Given the description of an element on the screen output the (x, y) to click on. 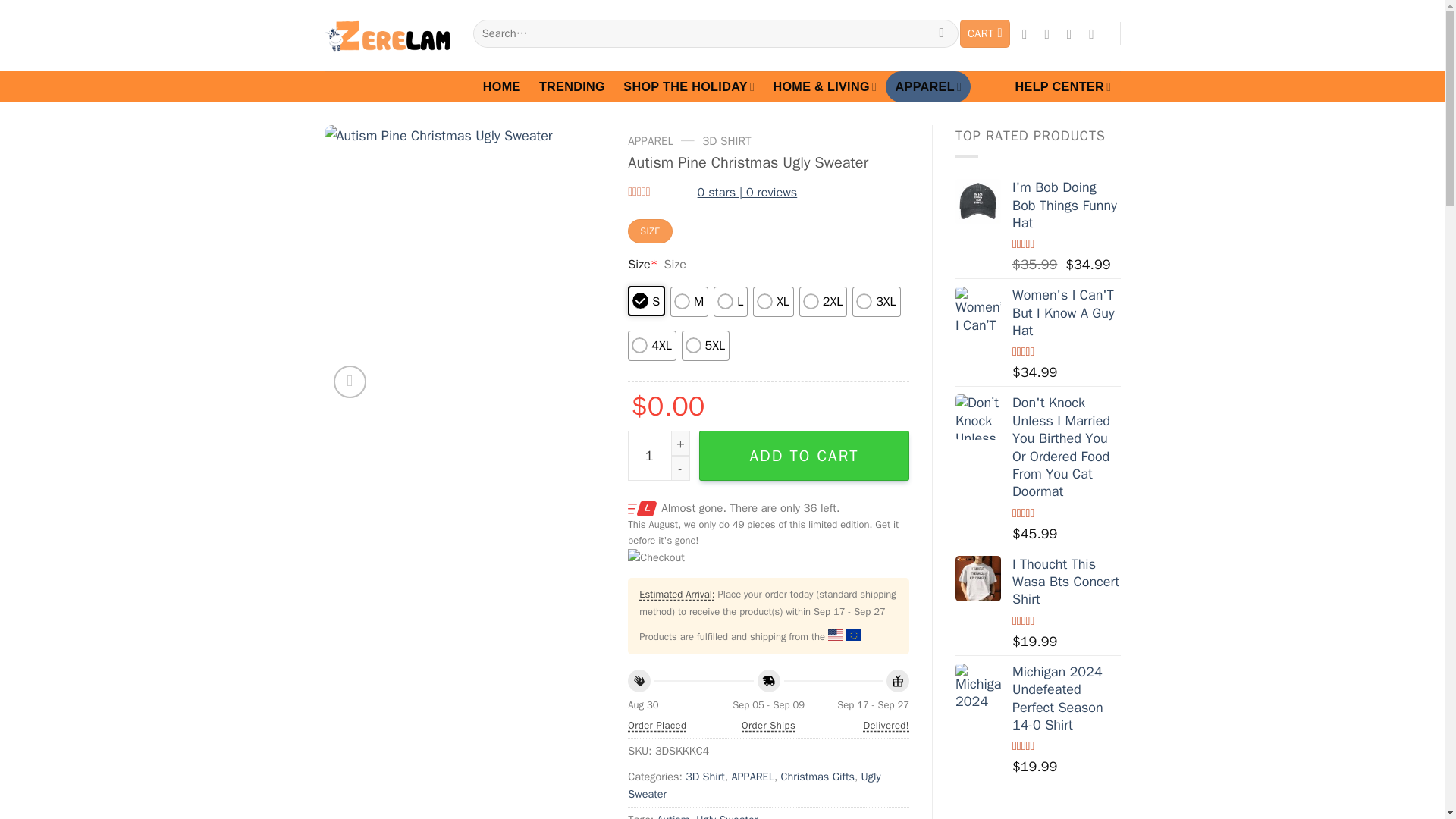
TRENDING (571, 86)
Michigan 2024 Undefeated Perfect Season 14-0 Shirt (978, 686)
APPAREL (928, 86)
Cart (984, 33)
Autism Pine Christmas Ugly Sweater (464, 264)
CART (984, 33)
I Thoucht This Wasa Bts Concert Shirt (978, 578)
Search (941, 33)
SHOP THE HOLIDAY (688, 86)
HOME (501, 86)
